Given the description of an element on the screen output the (x, y) to click on. 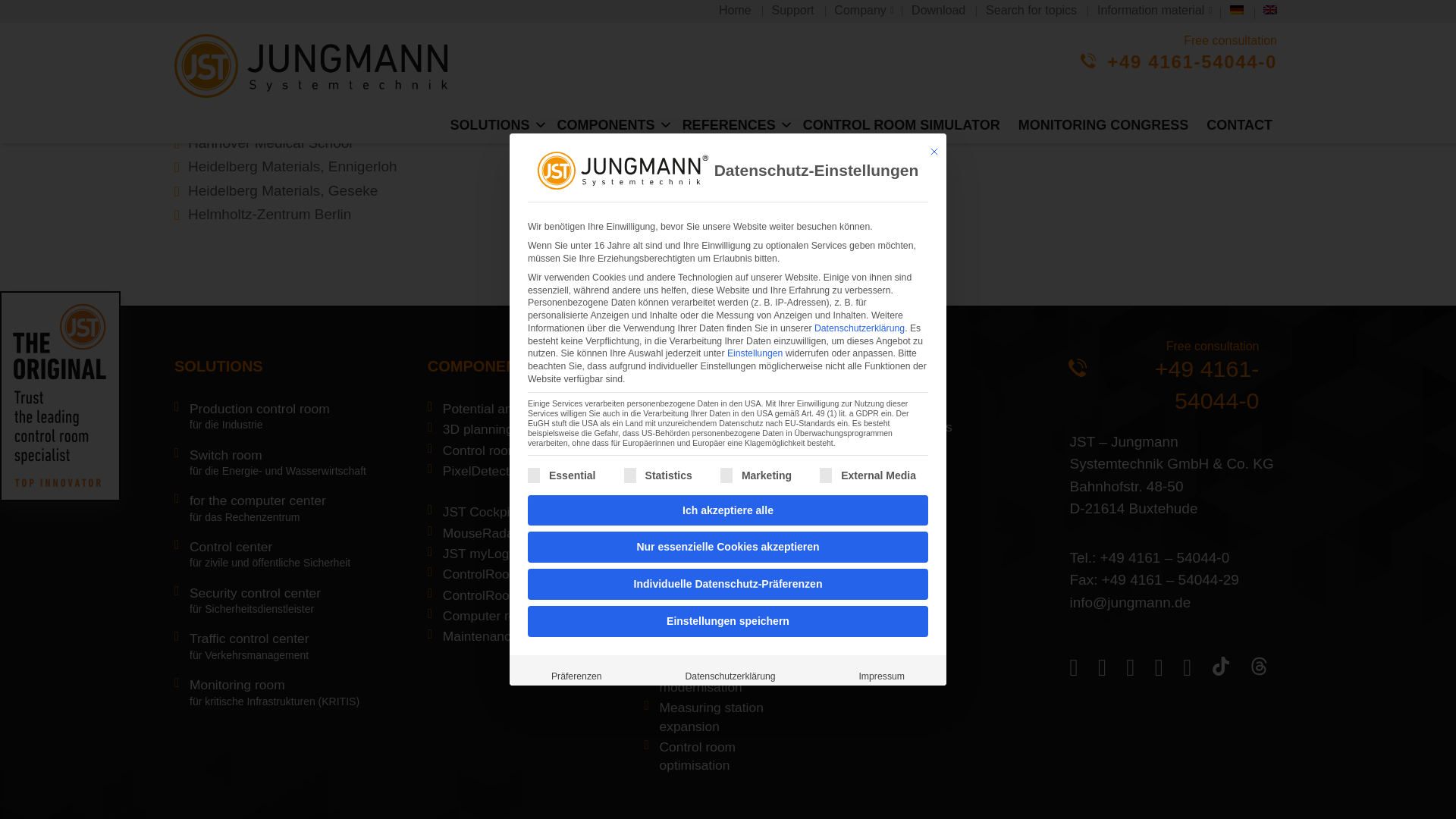
phone (1077, 367)
